Given the description of an element on the screen output the (x, y) to click on. 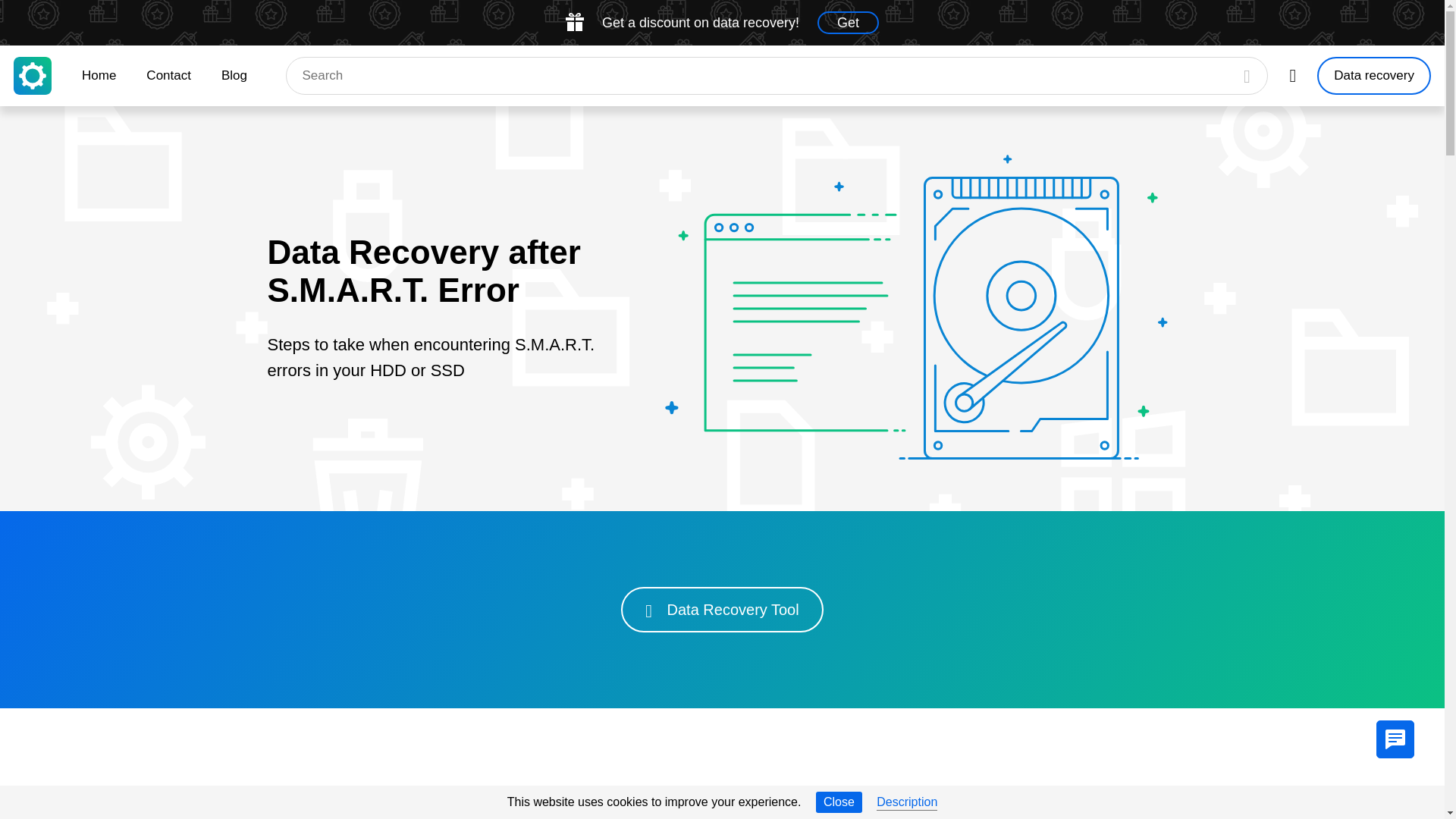
Data Recovery Tool (721, 609)
Home (98, 75)
Contact (168, 75)
Main (31, 75)
Blog (234, 75)
